Given the description of an element on the screen output the (x, y) to click on. 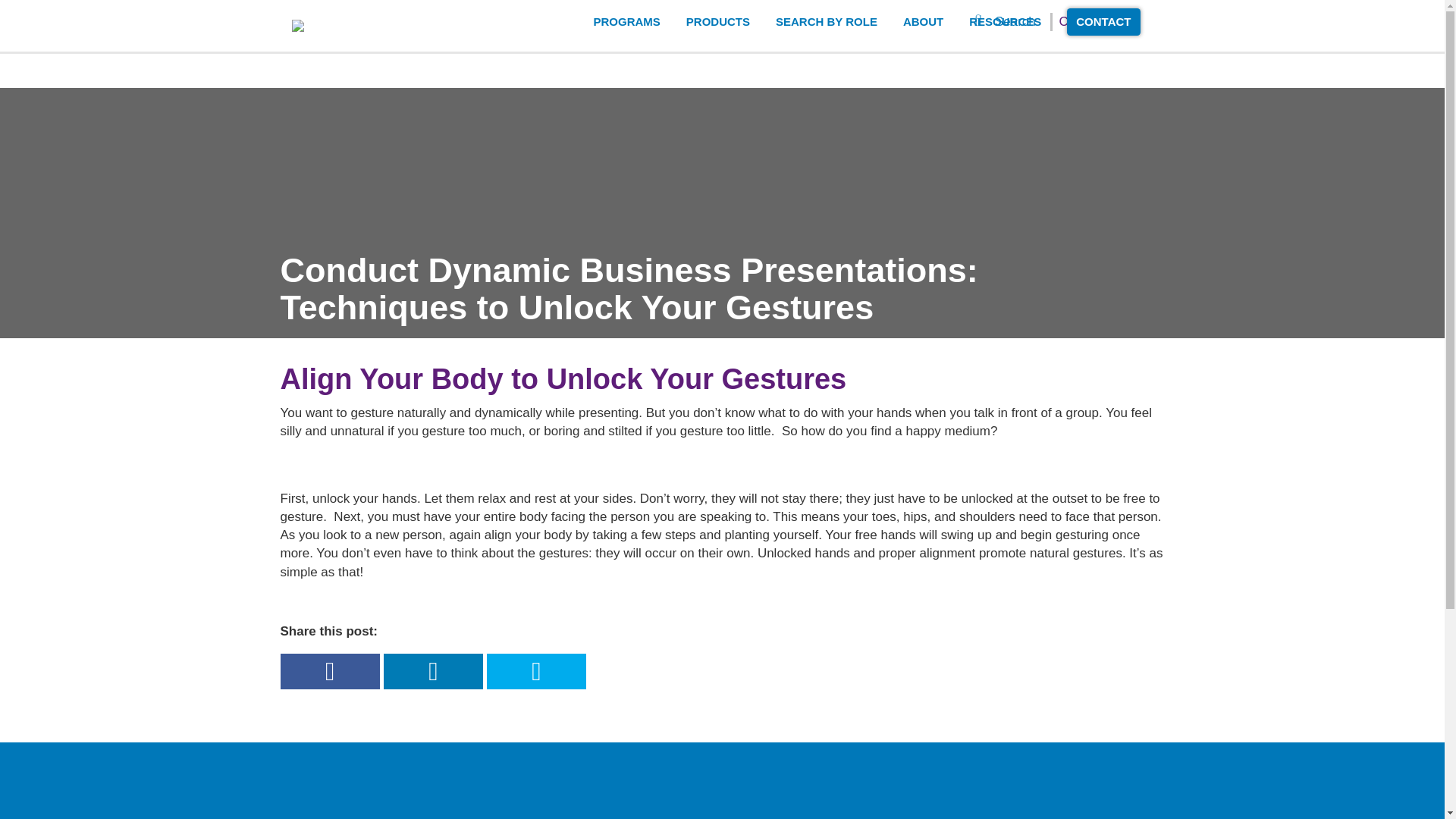
Cart (1071, 21)
ABOUT (922, 21)
PROGRAMS (625, 21)
SEARCH BY ROLE (826, 21)
CONTACT (1103, 22)
Search (1005, 20)
Login (1118, 21)
RESOURCES (1005, 21)
PRODUCTS (717, 21)
